Given the description of an element on the screen output the (x, y) to click on. 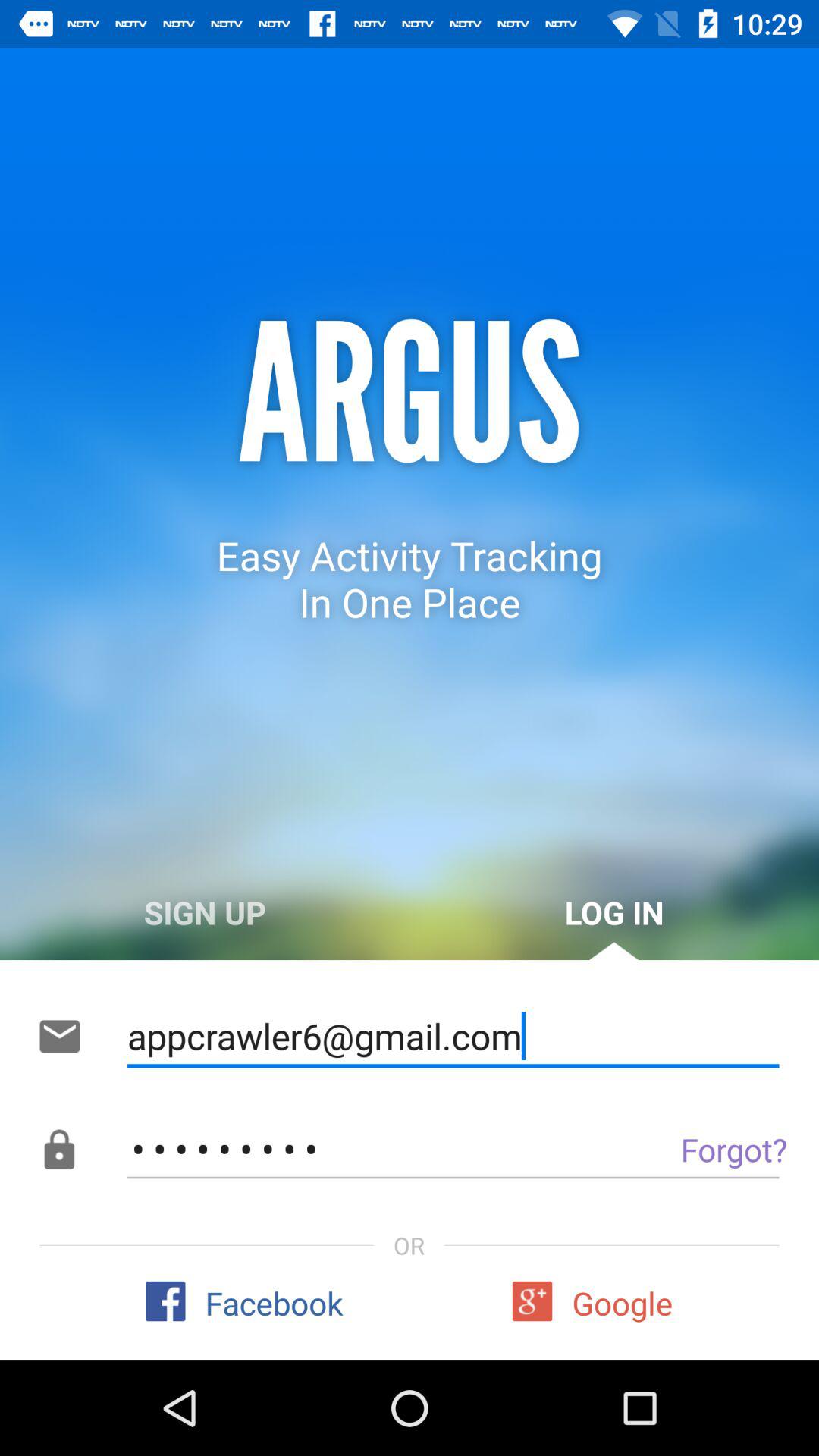
click the item above or icon (453, 1149)
